Given the description of an element on the screen output the (x, y) to click on. 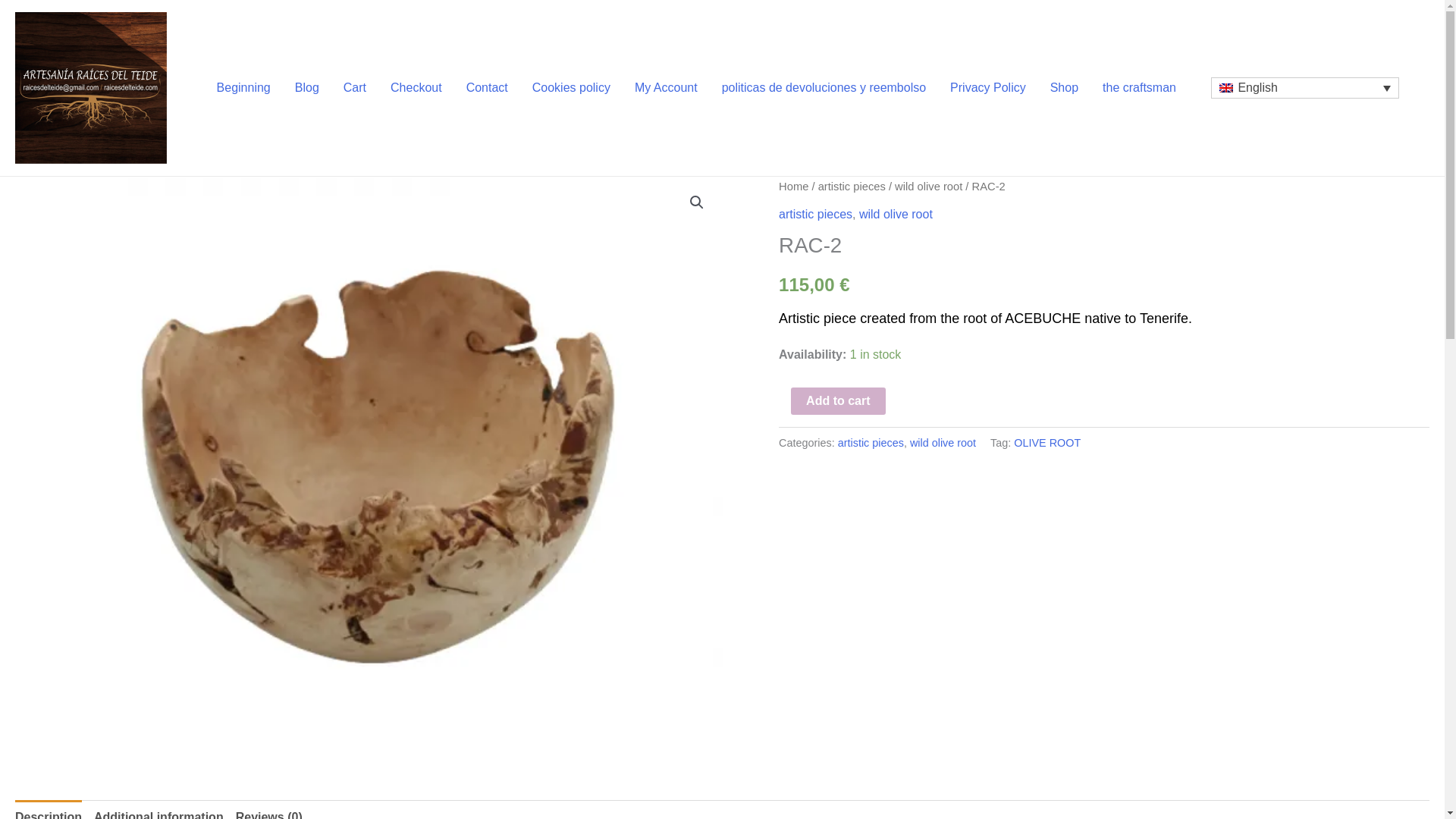
Contact (486, 87)
wild olive root (928, 186)
Home (793, 186)
My Account (666, 87)
English (1305, 87)
Shop (1064, 87)
politicas de devoluciones y reembolso (823, 87)
Cart (354, 87)
the craftsman (1139, 87)
Checkout (416, 87)
